Given the description of an element on the screen output the (x, y) to click on. 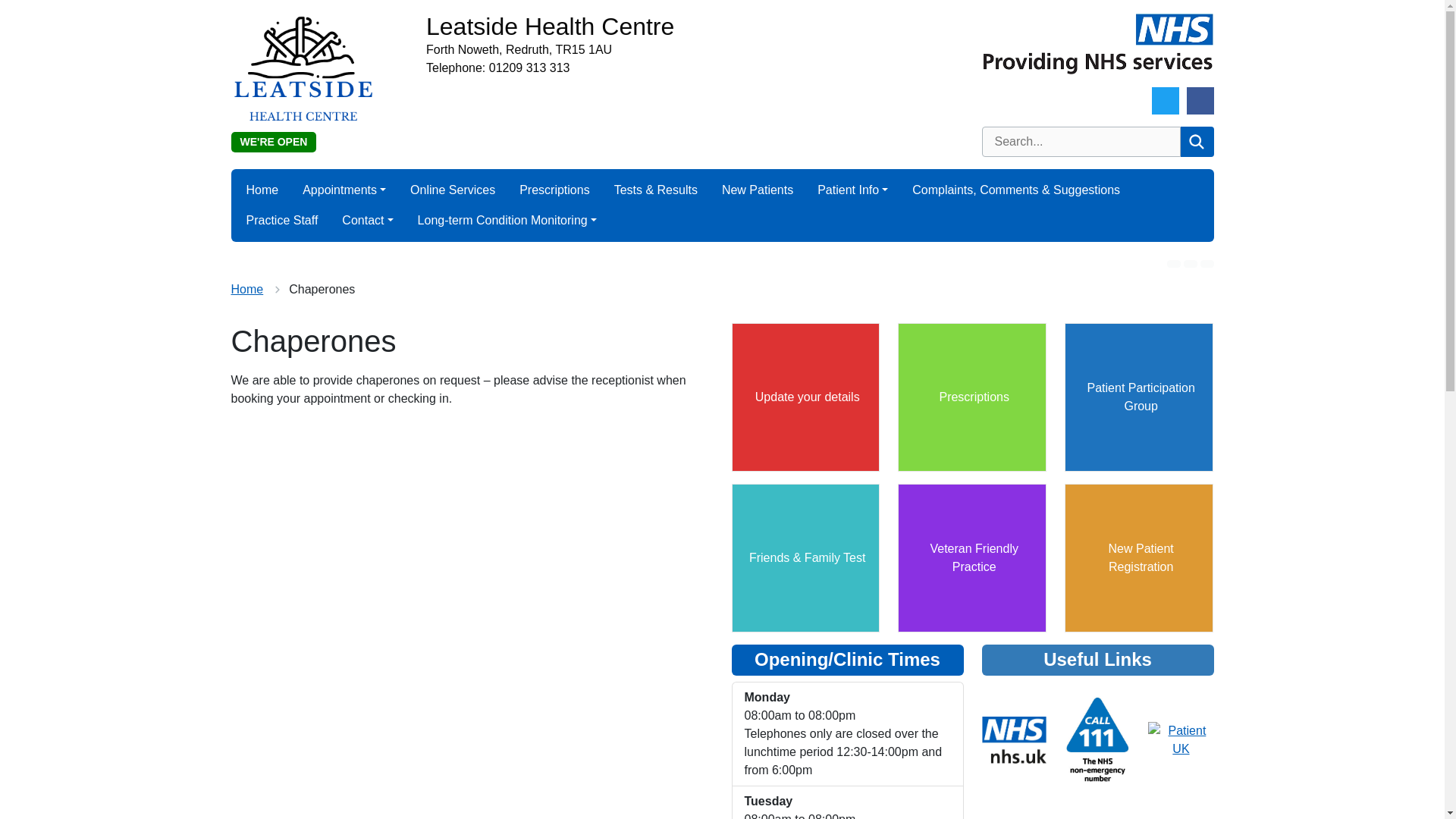
Search for: (1080, 141)
Contact (367, 220)
Practice Staff (281, 220)
Home (246, 288)
Twitter Link (1164, 100)
Prescriptions (554, 190)
Search (1195, 141)
Home (261, 190)
Leatside Health Centre (694, 26)
Emis Patient Access (972, 396)
Online Services (452, 190)
Facebook Link (1199, 100)
Appointments (344, 190)
Long-term Condition Monitoring (507, 220)
Patient Info (851, 190)
